Given the description of an element on the screen output the (x, y) to click on. 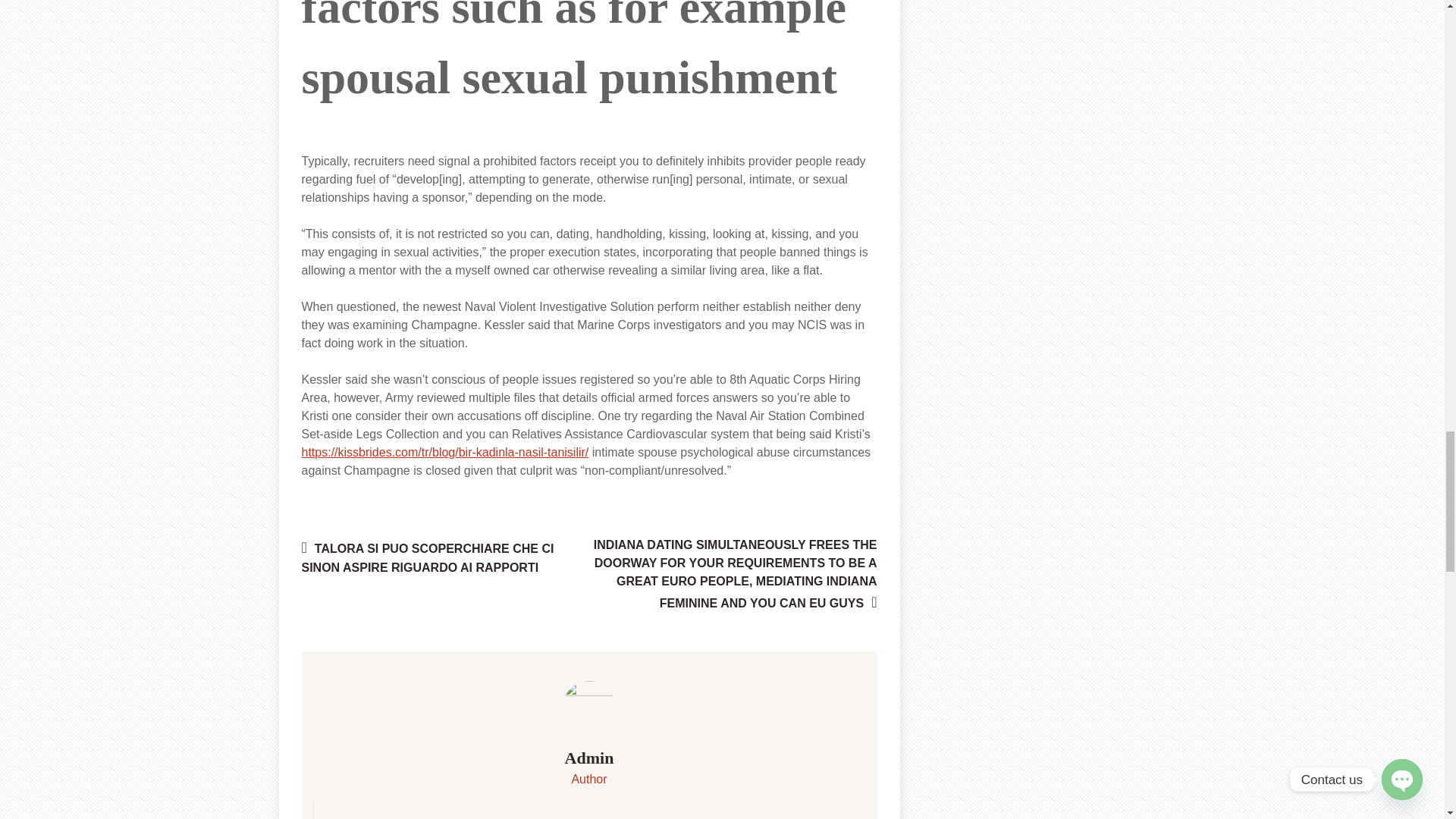
Posts by admin (589, 757)
Admin (589, 757)
